Given the description of an element on the screen output the (x, y) to click on. 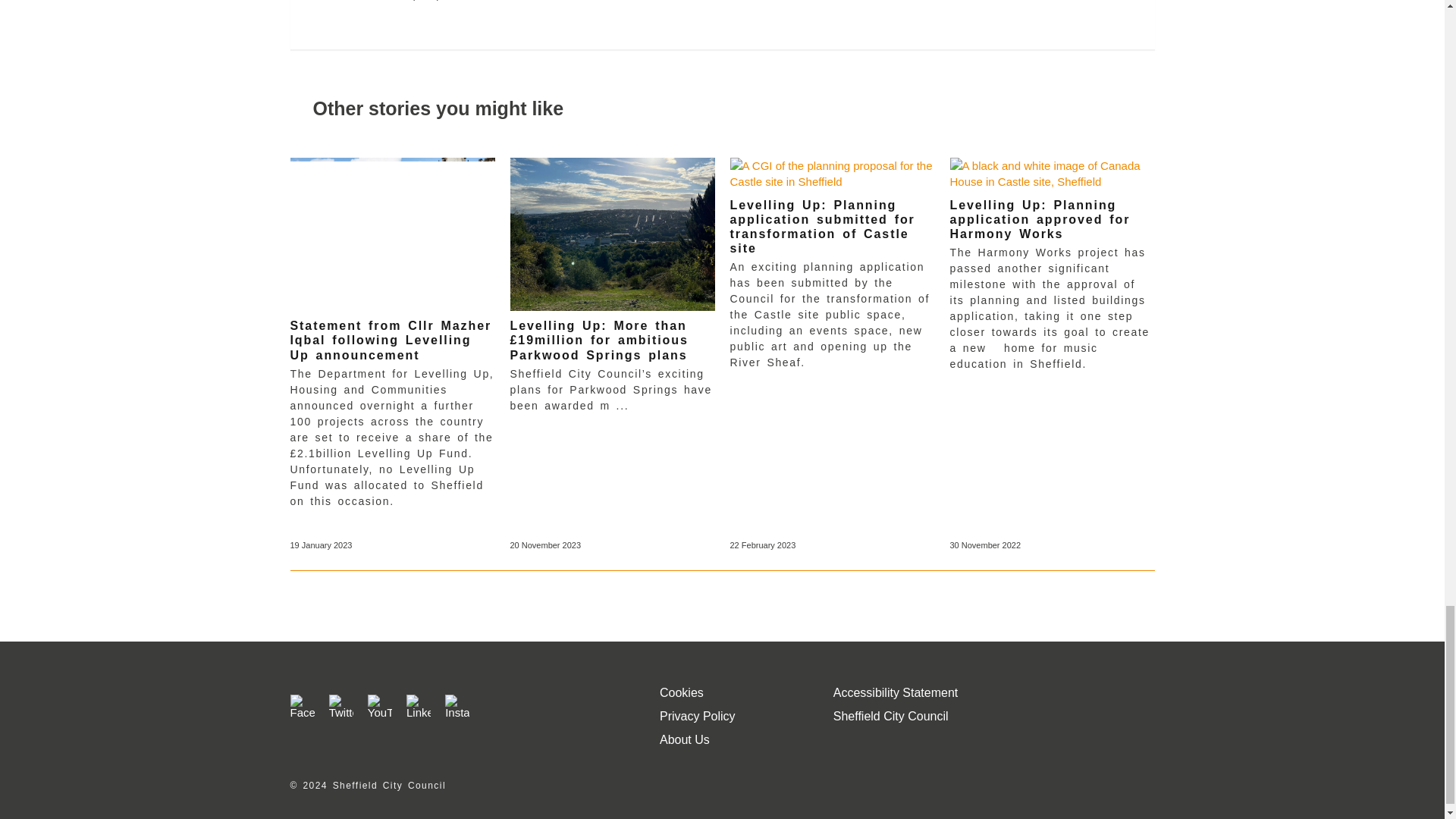
Cookies (681, 692)
Accessibility Statement (895, 692)
Sheffield City Council (890, 716)
About Us (684, 739)
Privacy Policy (697, 716)
